Given the description of an element on the screen output the (x, y) to click on. 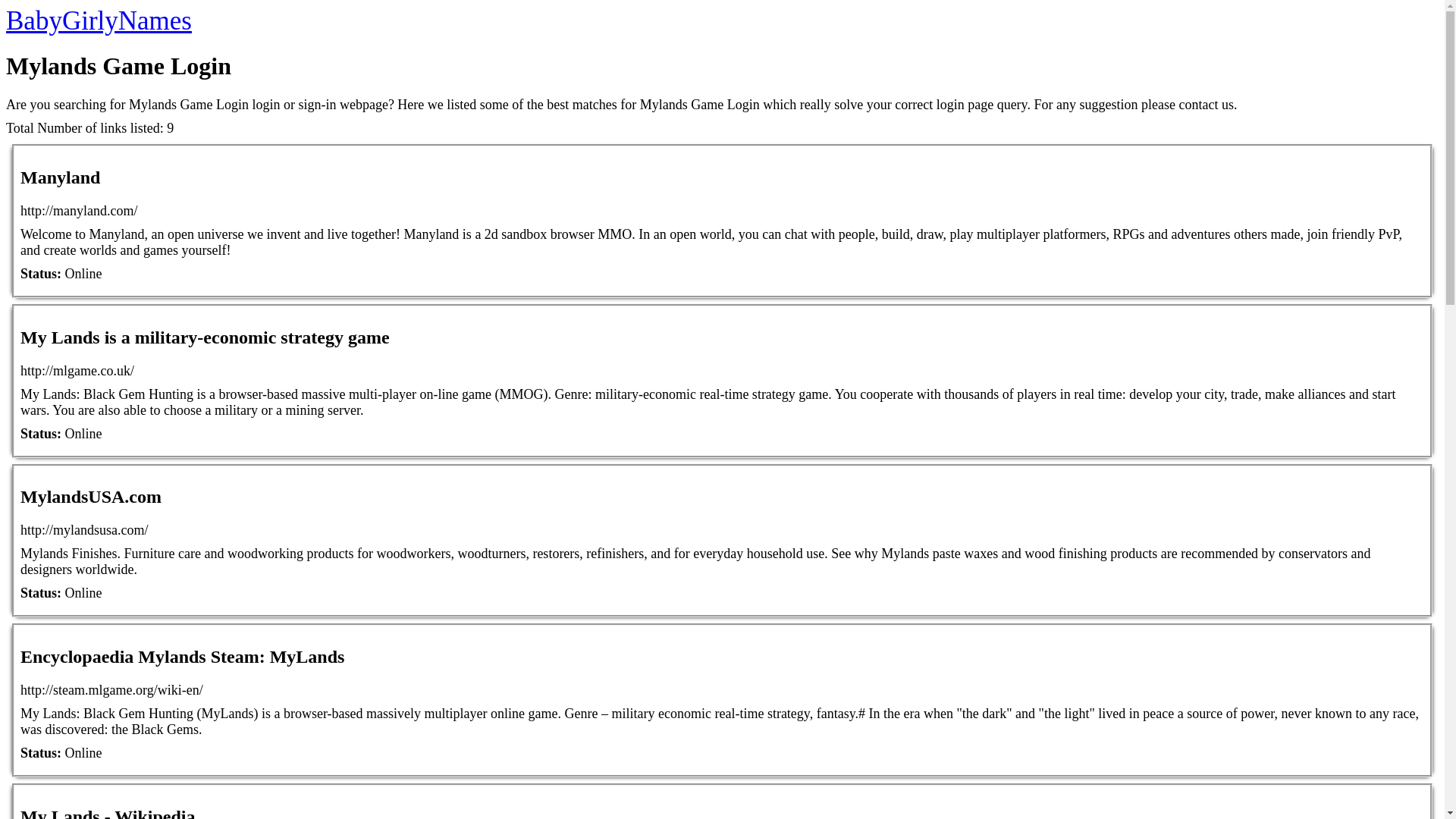
BabyGirlyNames (98, 20)
